Given the description of an element on the screen output the (x, y) to click on. 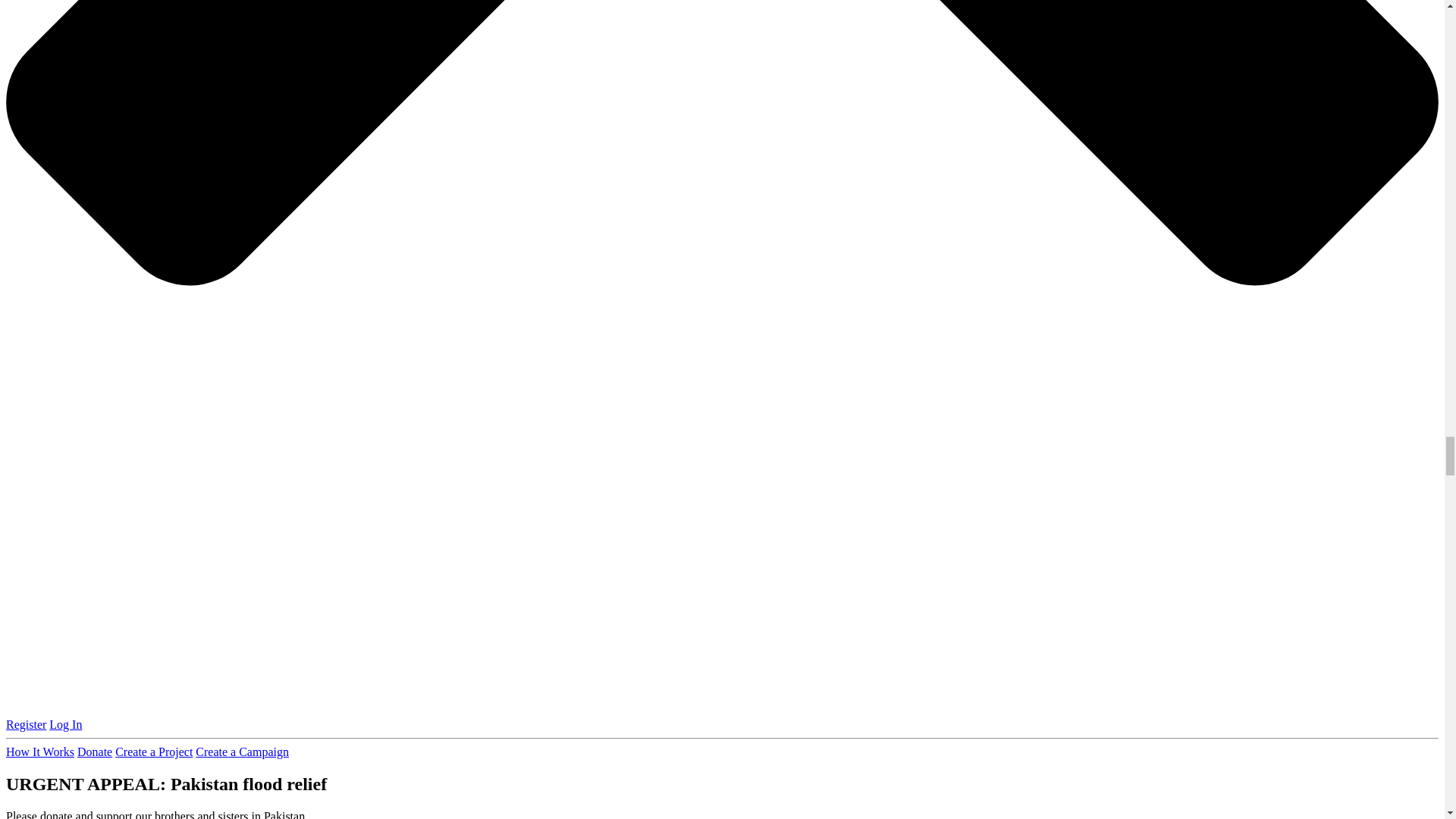
Create a Project (153, 751)
Register (25, 724)
How It Works (39, 751)
Donate (94, 751)
Create a Campaign (241, 751)
Log In (65, 724)
